Given the description of an element on the screen output the (x, y) to click on. 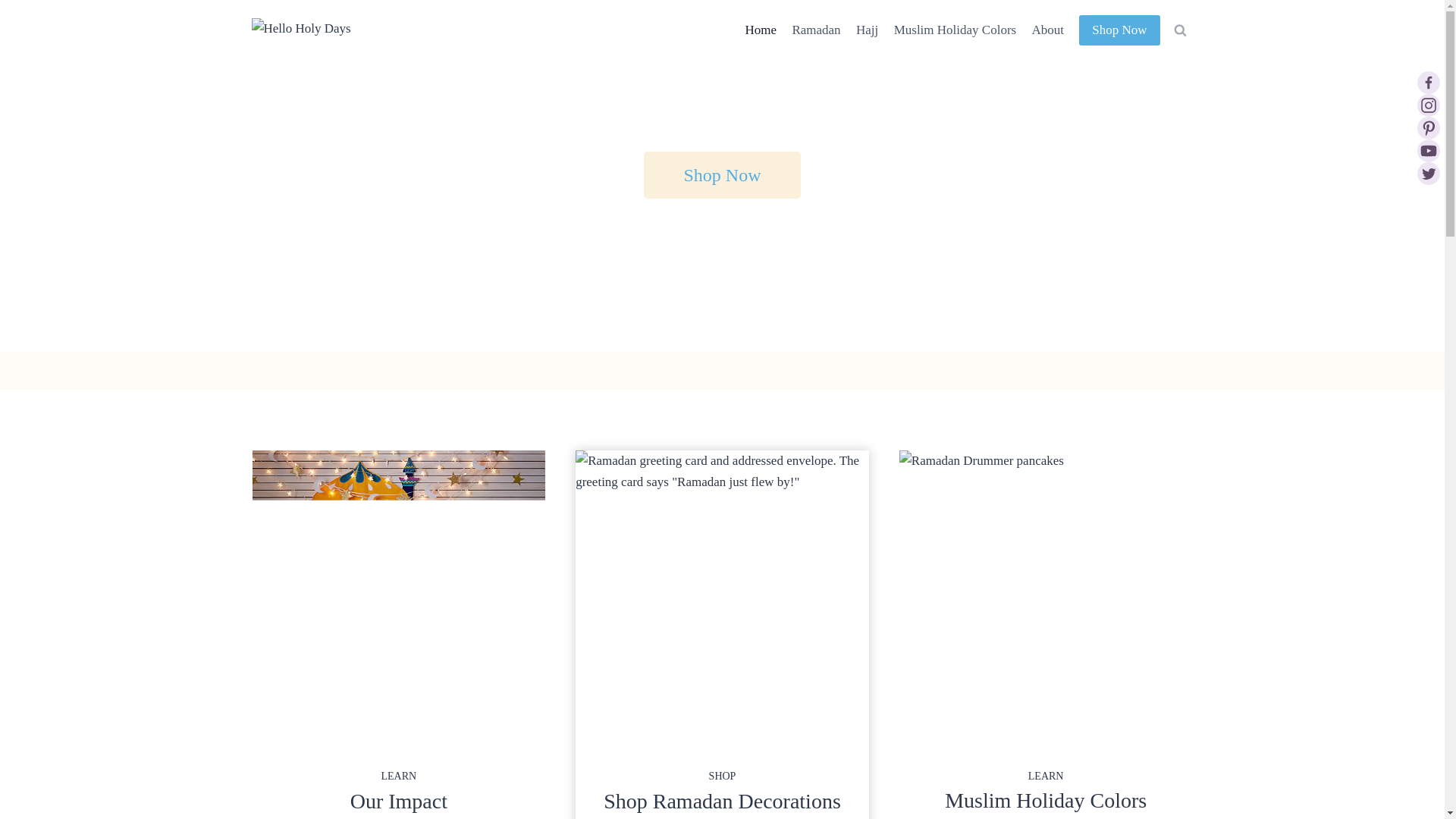
Facebook (1427, 82)
Youtube (1427, 150)
Ramadan (816, 30)
Instagram (1427, 105)
Pinterest (1427, 128)
Home (760, 30)
Twitter (1427, 173)
Shop Now (1118, 30)
Hajj (867, 30)
Shop Now (721, 175)
